Given the description of an element on the screen output the (x, y) to click on. 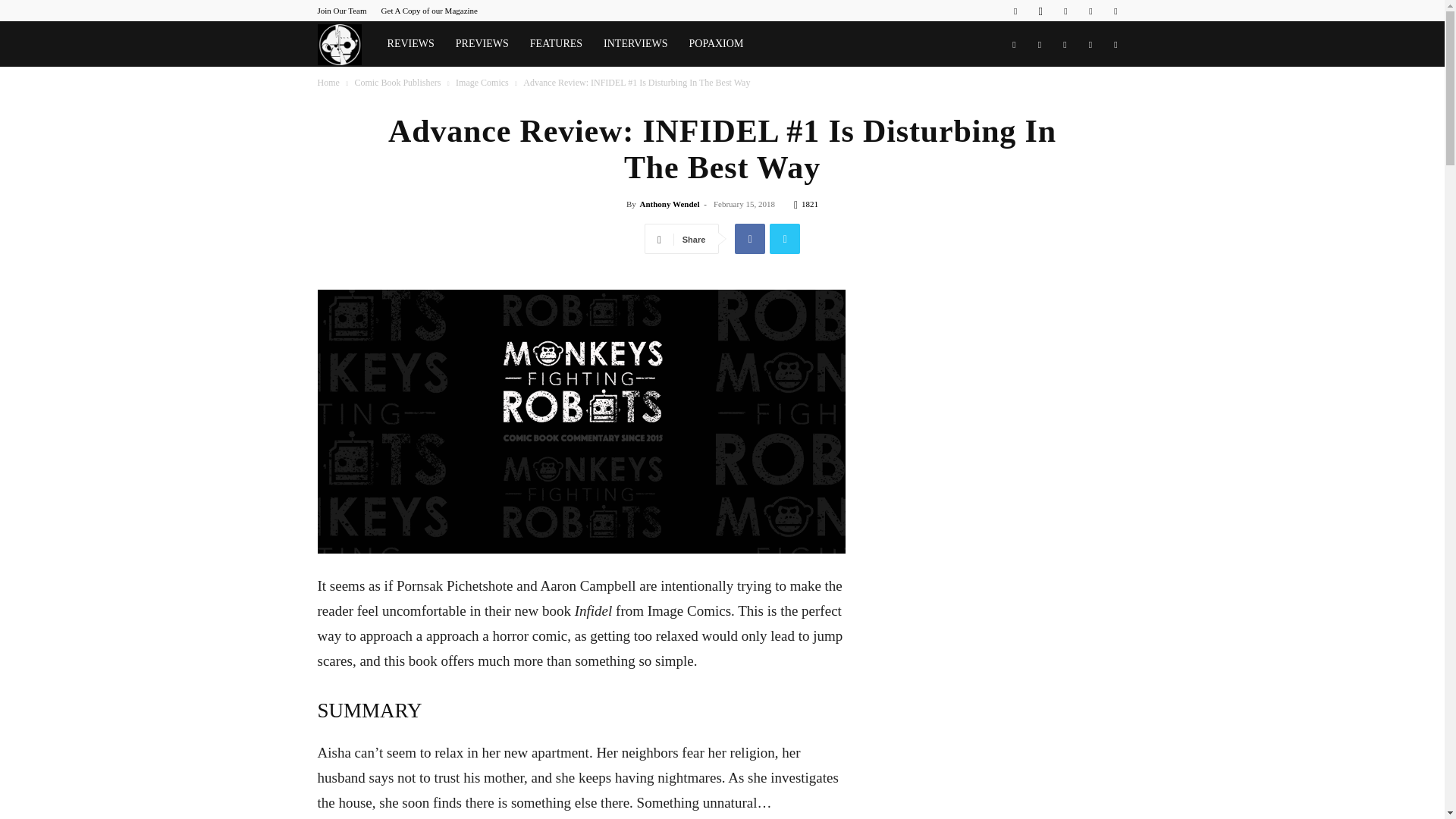
Youtube (1114, 10)
Image Comics (481, 81)
INTERVIEWS (635, 43)
Anthony Wendel (668, 203)
Get A Copy of our Magazine (429, 10)
Home (328, 81)
FEATURES (555, 43)
Facebook (1015, 10)
Twitter (1090, 10)
POPAXIOM (716, 43)
Monkeys Fighting Robots (346, 44)
REVIEWS (411, 43)
Join Our Team (341, 10)
Comic Book Publishers (397, 81)
Reddit (1065, 10)
